Given the description of an element on the screen output the (x, y) to click on. 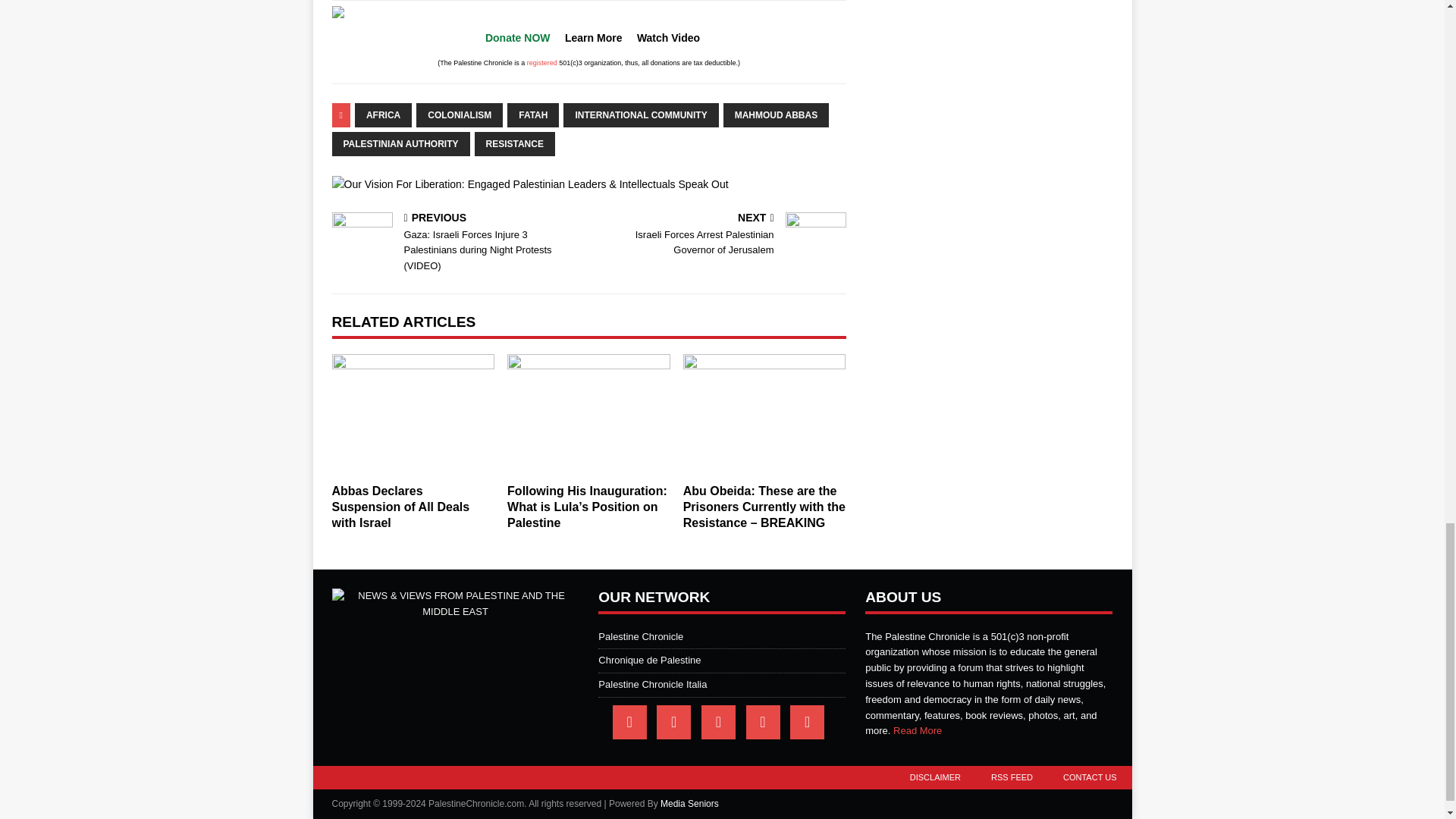
Watch Video (668, 37)
Learn More (592, 37)
registered (542, 62)
Abbas Declares Suspension of All Deals with Israel (413, 414)
Donate NOW (517, 37)
Abbas Declares Suspension of All Deals with Israel (400, 506)
